Given the description of an element on the screen output the (x, y) to click on. 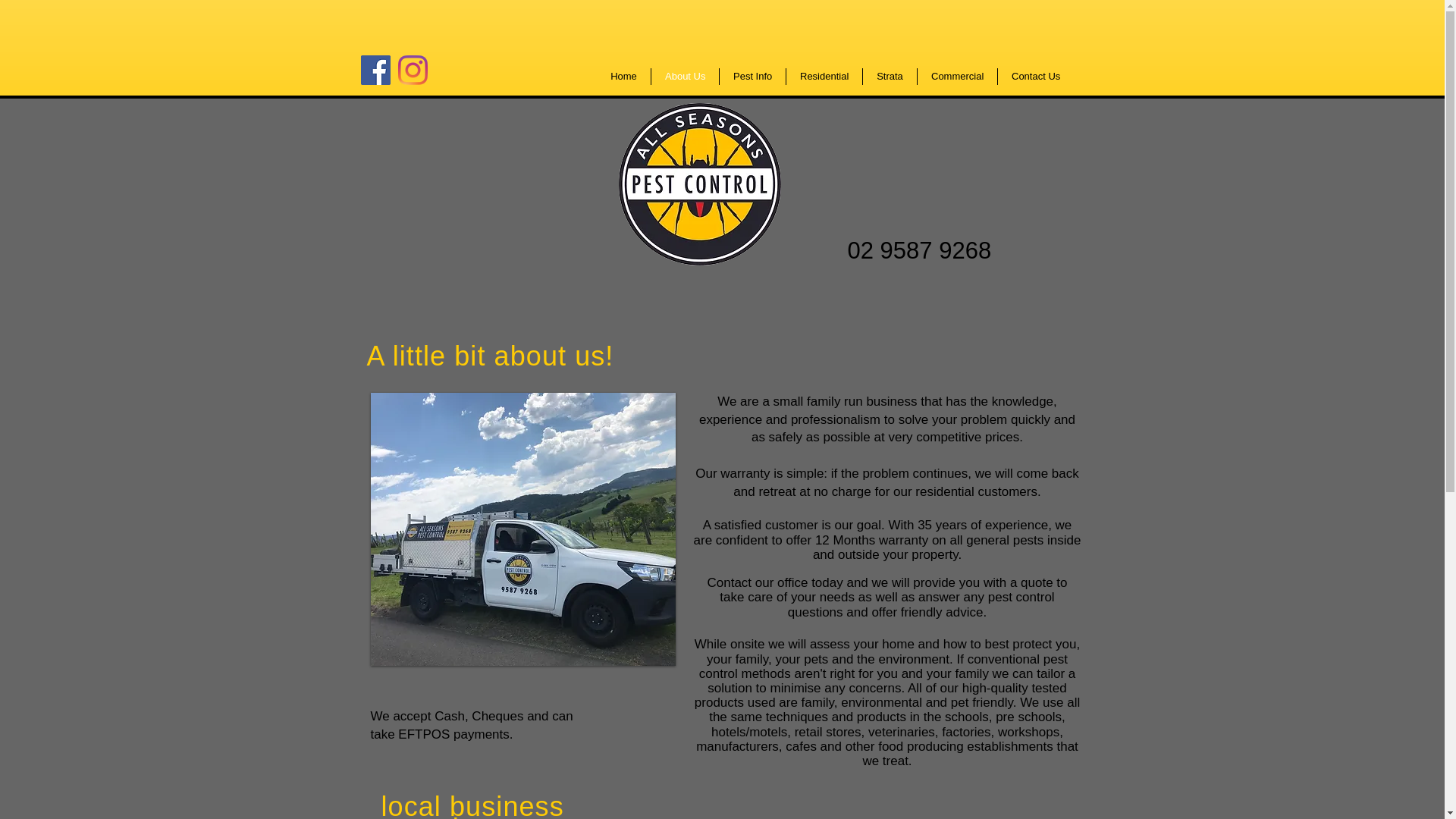
Home (623, 76)
Residential (823, 76)
Strata (890, 76)
About Us (684, 76)
Contact Us (1035, 76)
Commercial (957, 76)
All Seasons Pest Control Ute  (522, 529)
Pest Info (752, 76)
